Given the description of an element on the screen output the (x, y) to click on. 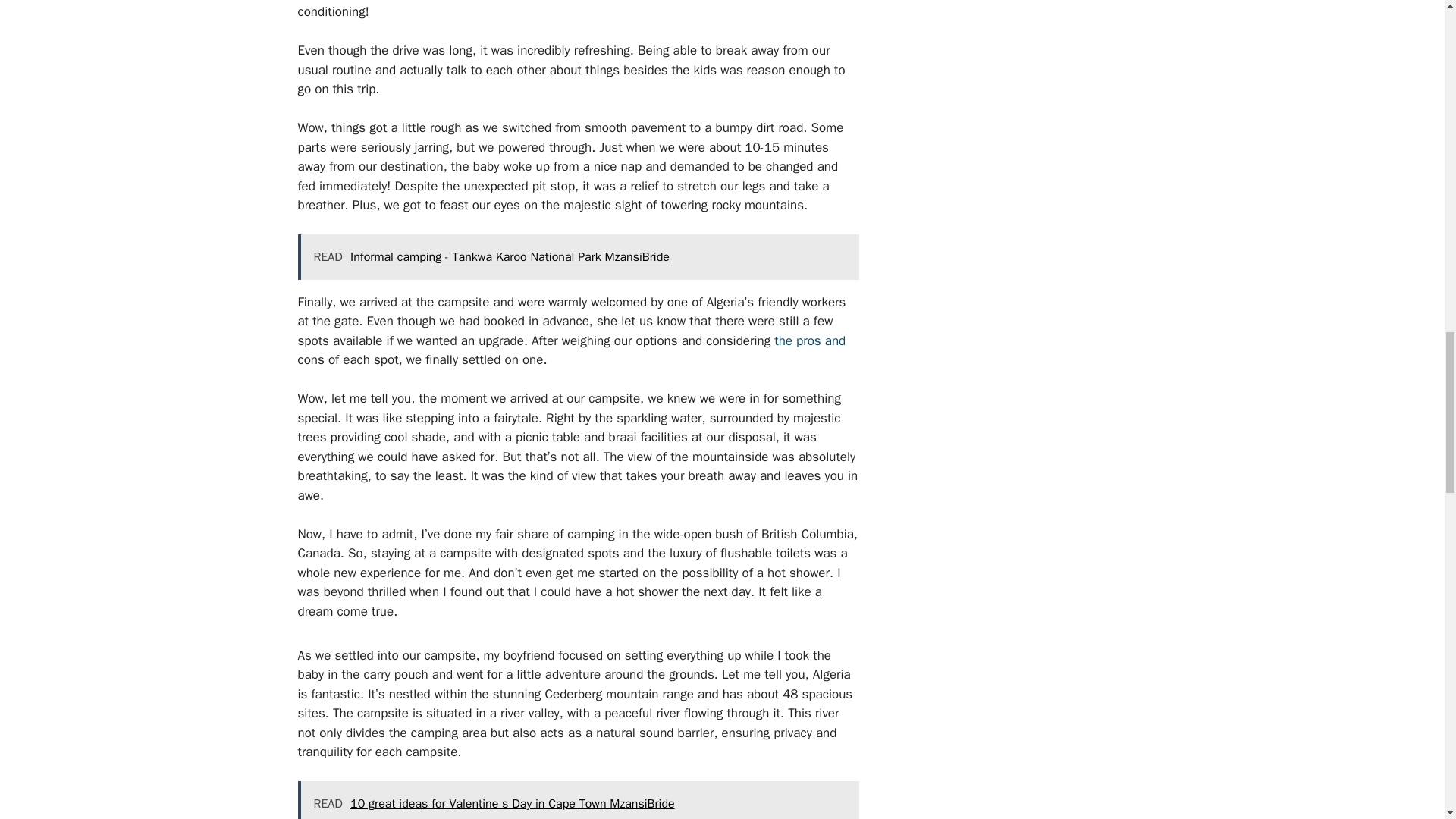
the pros and (809, 340)
